Given the description of an element on the screen output the (x, y) to click on. 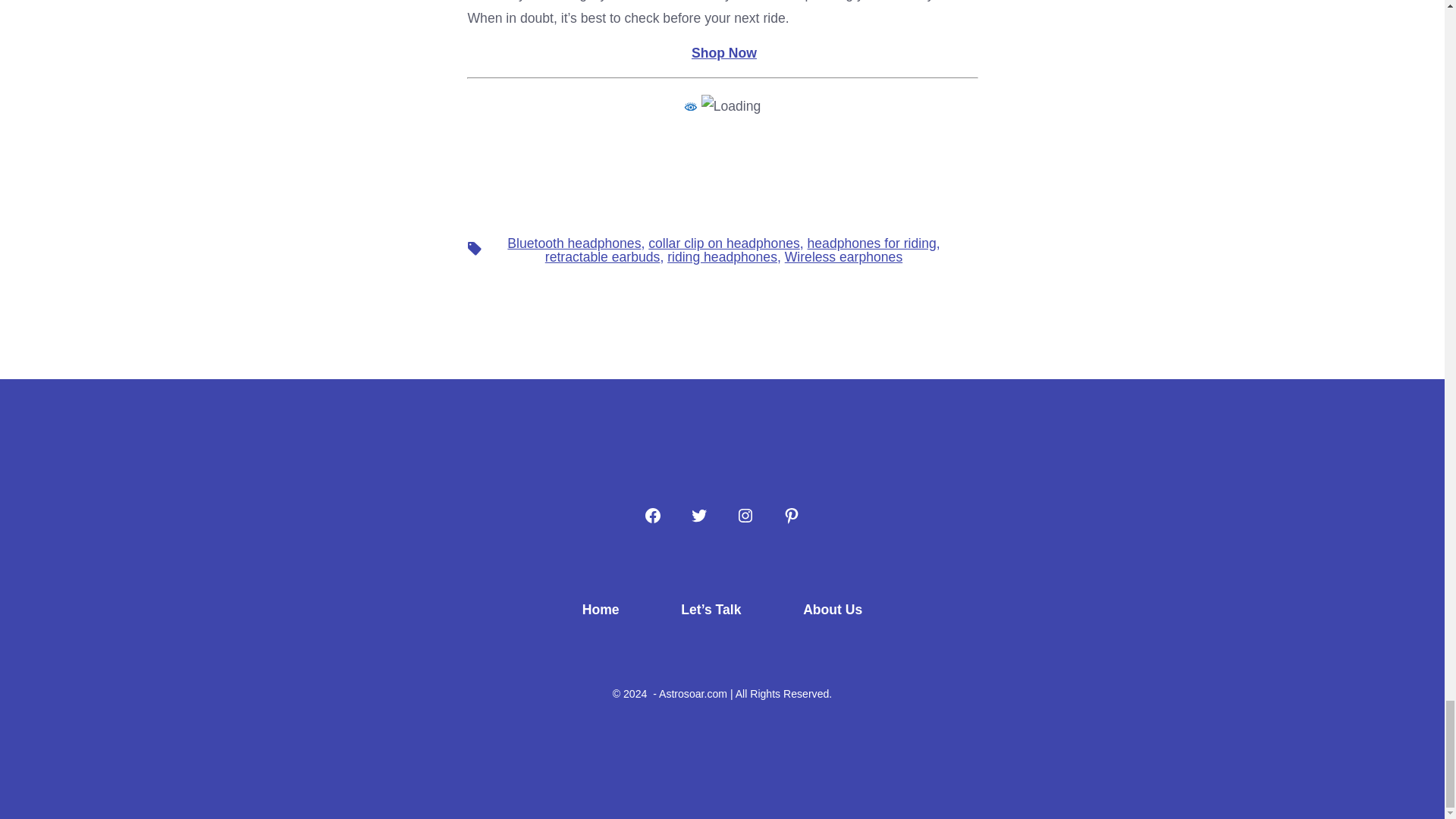
Shop Now (724, 52)
Wireless earphones (843, 256)
Open Twitter in a new tab (699, 514)
headphones for riding (872, 242)
Open Facebook in a new tab (652, 514)
riding headphones (721, 256)
Open Instagram in a new tab (745, 514)
Bluetooth headphones (573, 242)
Home (600, 610)
collar clip on headphones (723, 242)
